Given the description of an element on the screen output the (x, y) to click on. 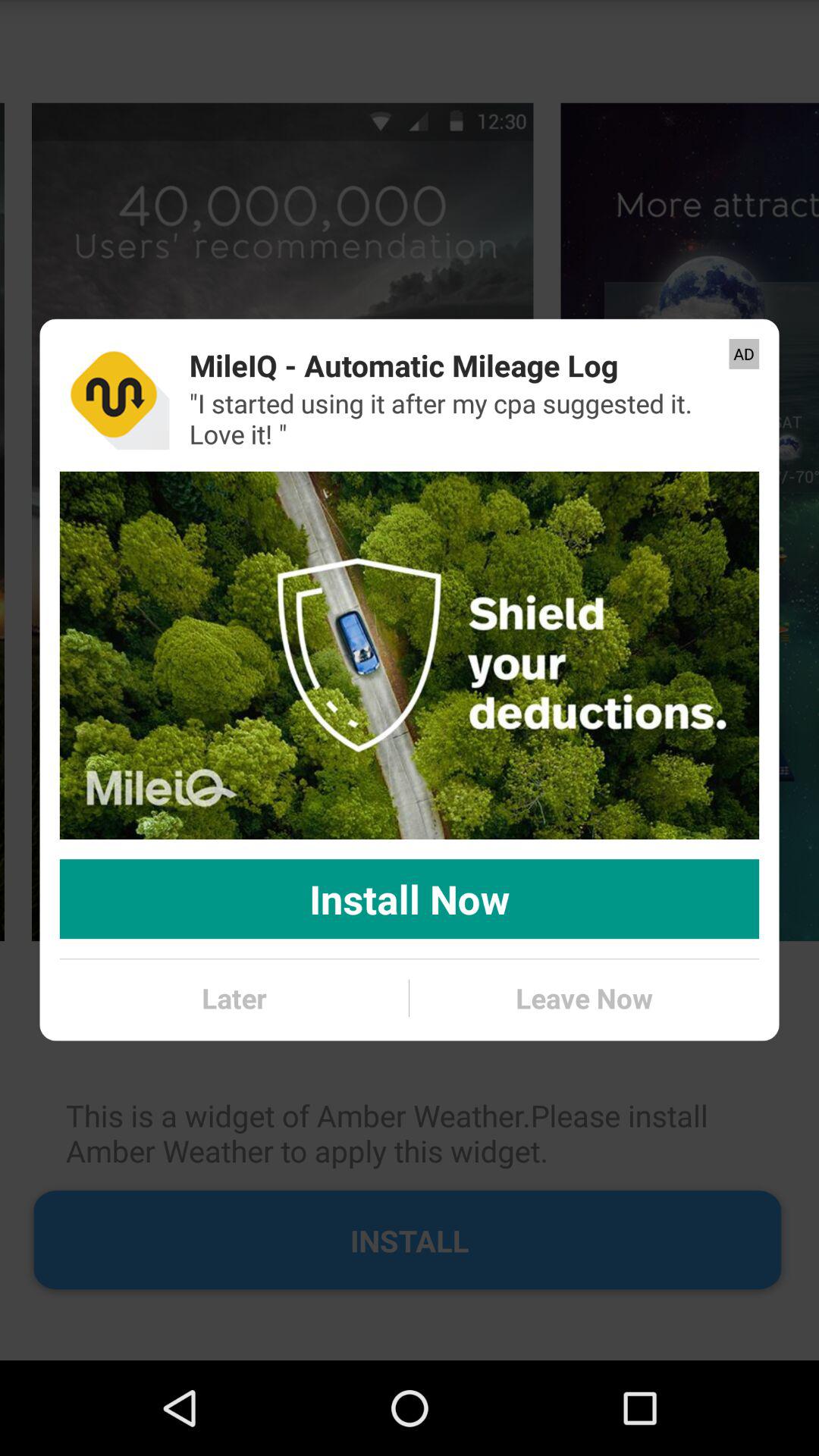
flip until install now (409, 899)
